Given the description of an element on the screen output the (x, y) to click on. 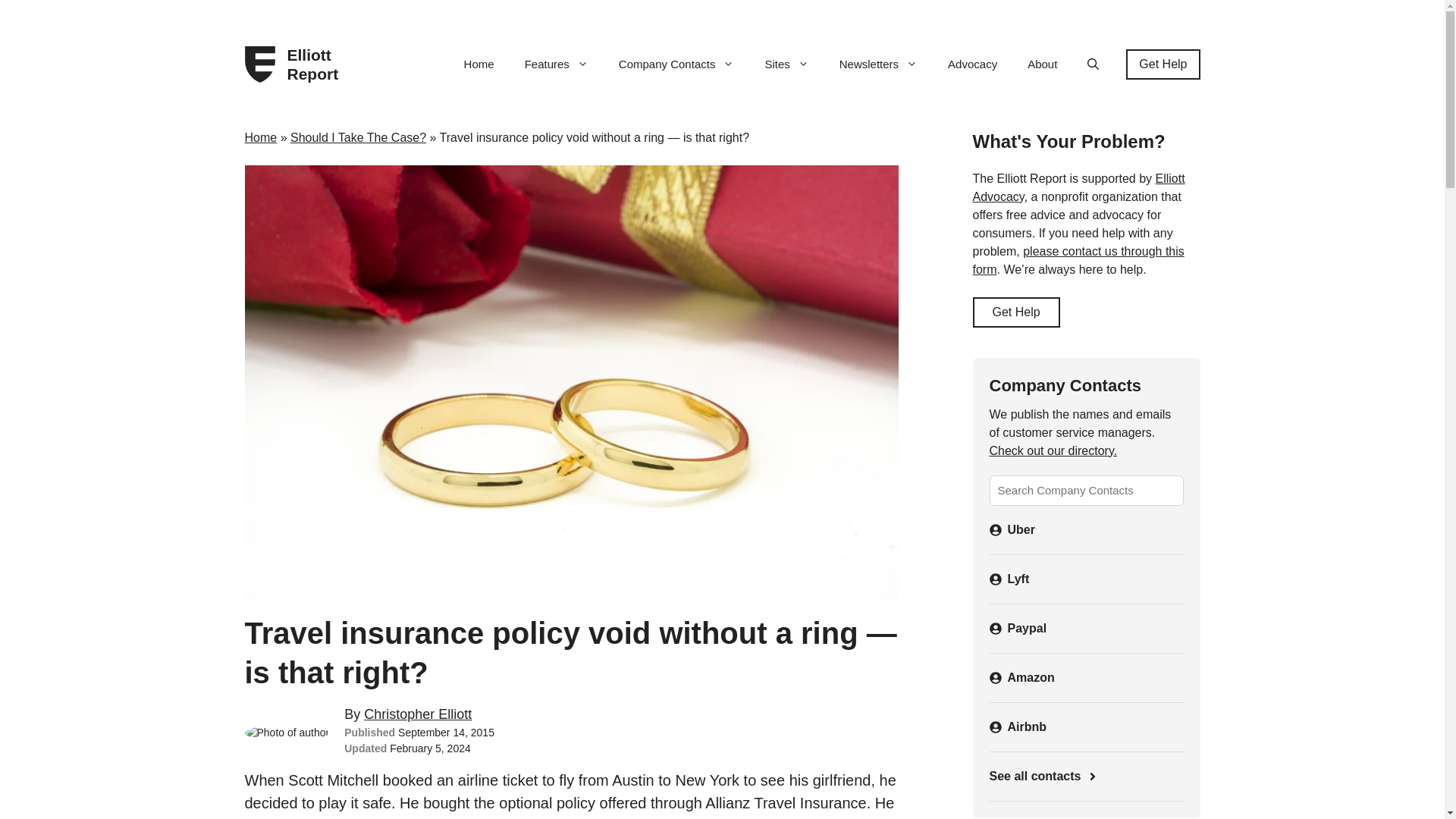
Elliott Report (318, 64)
Sites (786, 64)
Company Contacts (676, 64)
Newsletters (878, 64)
Features (556, 64)
Home (478, 64)
About (1041, 64)
Advocacy (972, 64)
Get Help (1162, 64)
